Given the description of an element on the screen output the (x, y) to click on. 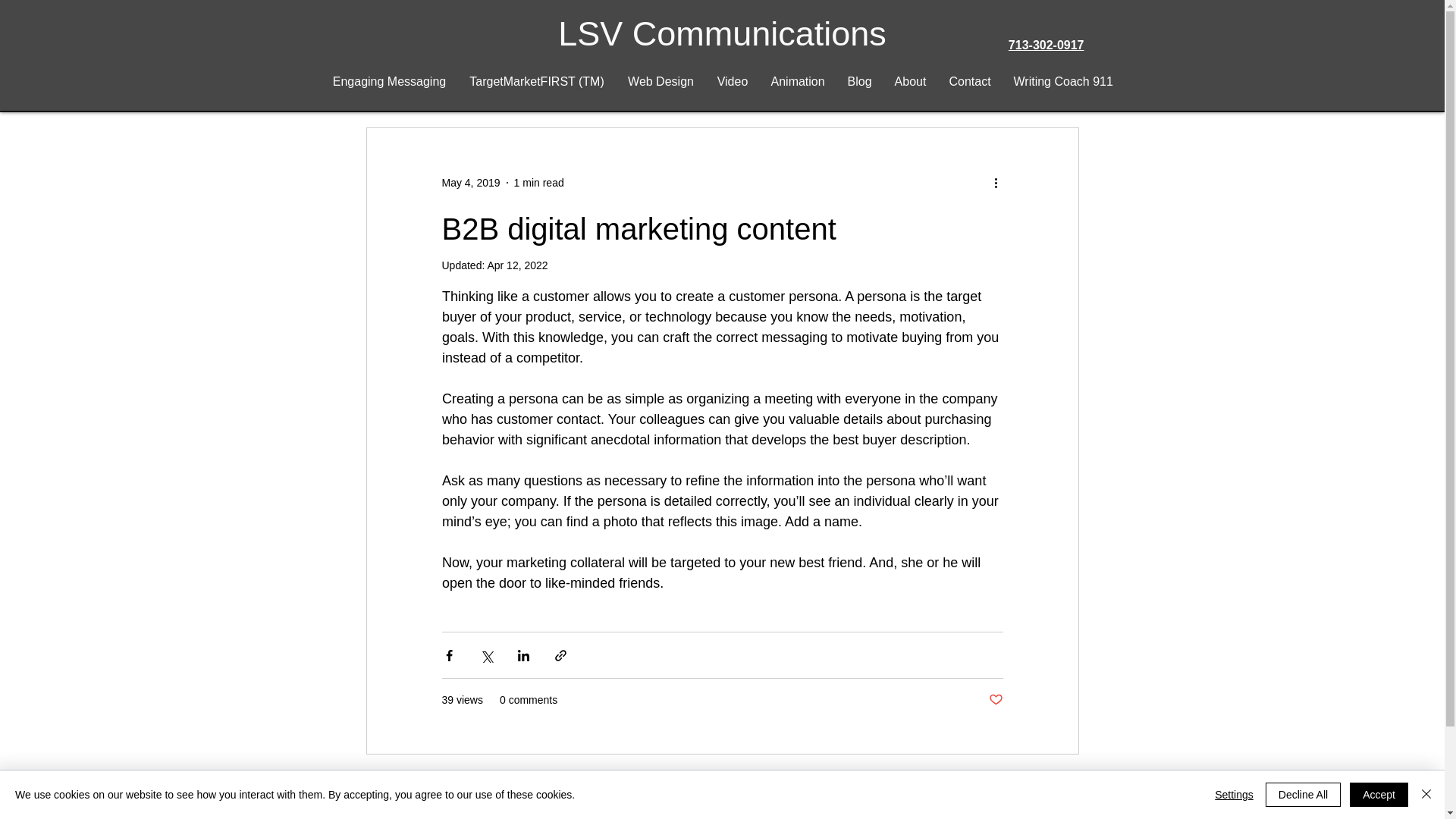
LSV Communications (721, 33)
Web Design (659, 81)
713-302-0917 (1046, 44)
Animation (797, 81)
Writing Coach 911 (1063, 81)
Apr 12, 2022 (516, 265)
Accept (1378, 794)
1 min read (538, 182)
Engaging Messaging (389, 81)
Blog (858, 81)
Decline All (1302, 794)
May 4, 2019 (470, 182)
Video (731, 81)
Post not marked as liked (995, 700)
About (909, 81)
